Given the description of an element on the screen output the (x, y) to click on. 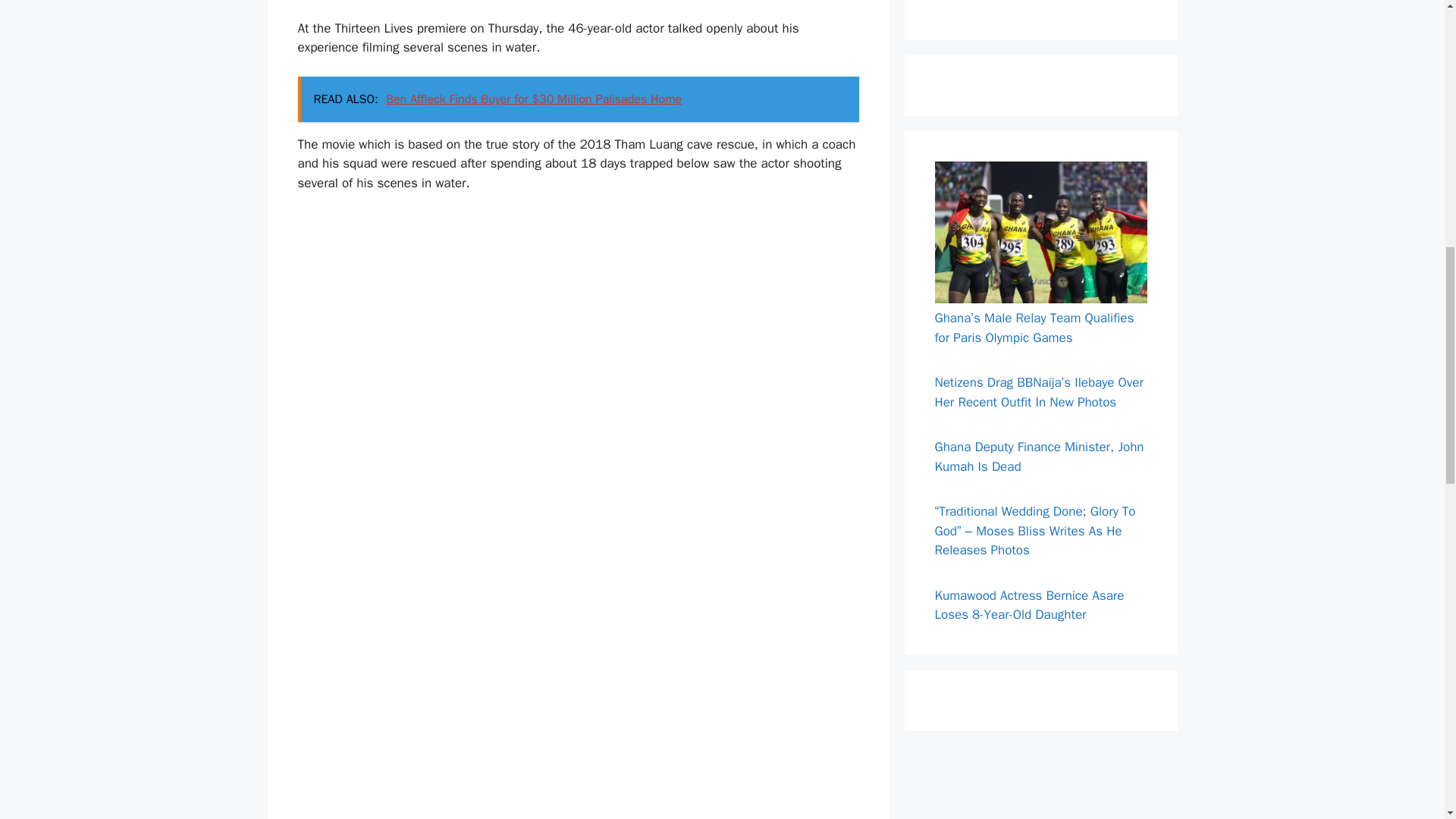
Ghana Deputy Finance Minister, John Kumah Is Dead (1038, 456)
Kumawood Actress Bernice Asare Loses 8-Year-Old Daughter (1029, 605)
